Given the description of an element on the screen output the (x, y) to click on. 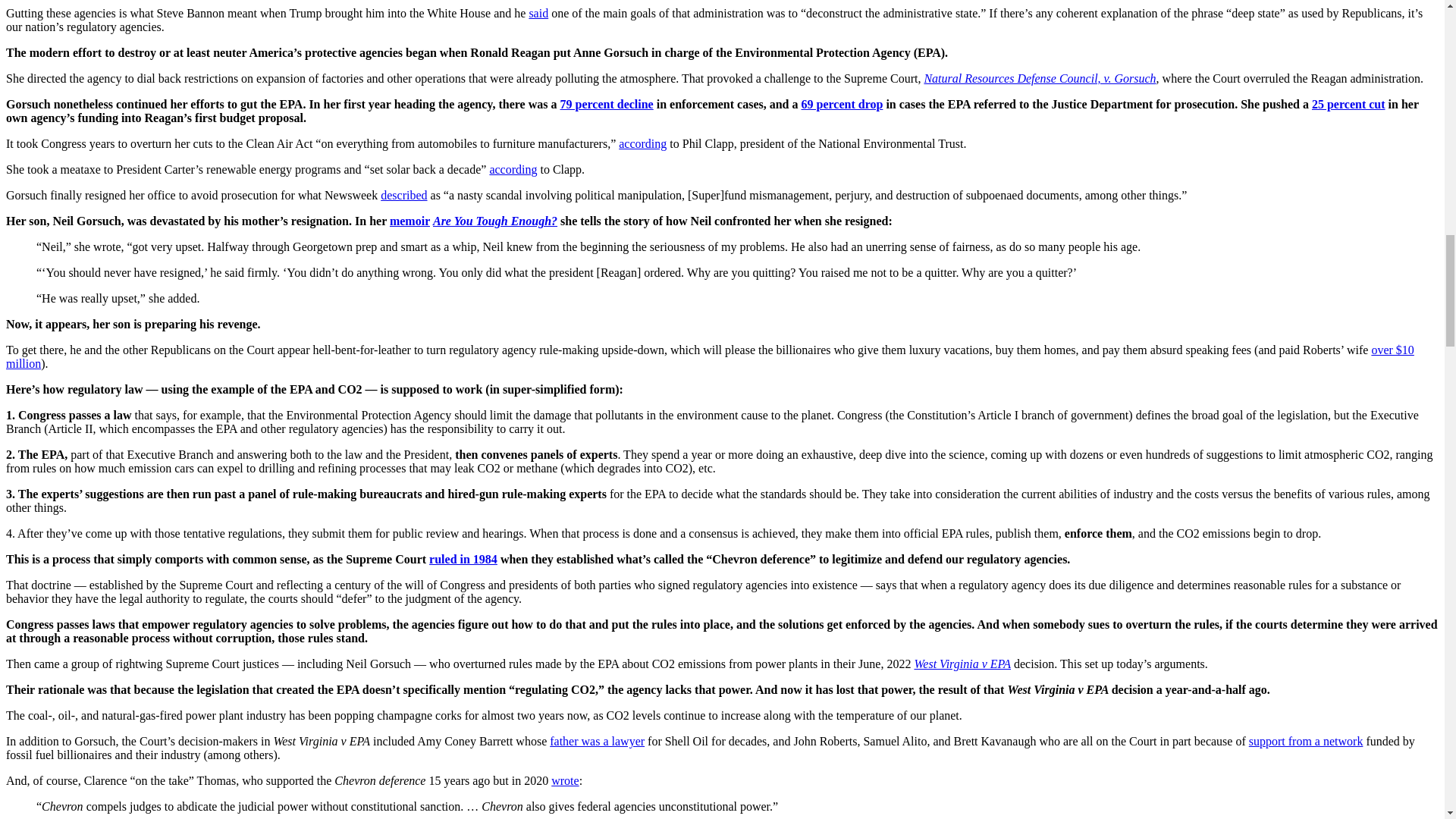
described (403, 195)
69 percent drop (842, 103)
25 percent cut (1348, 103)
memoir (409, 220)
according (513, 169)
said (538, 12)
Are You Tough Enough? (494, 220)
Natural Resources Defense Council, v. Gorsuch (1039, 78)
79 percent decline (605, 103)
according (642, 143)
